Given the description of an element on the screen output the (x, y) to click on. 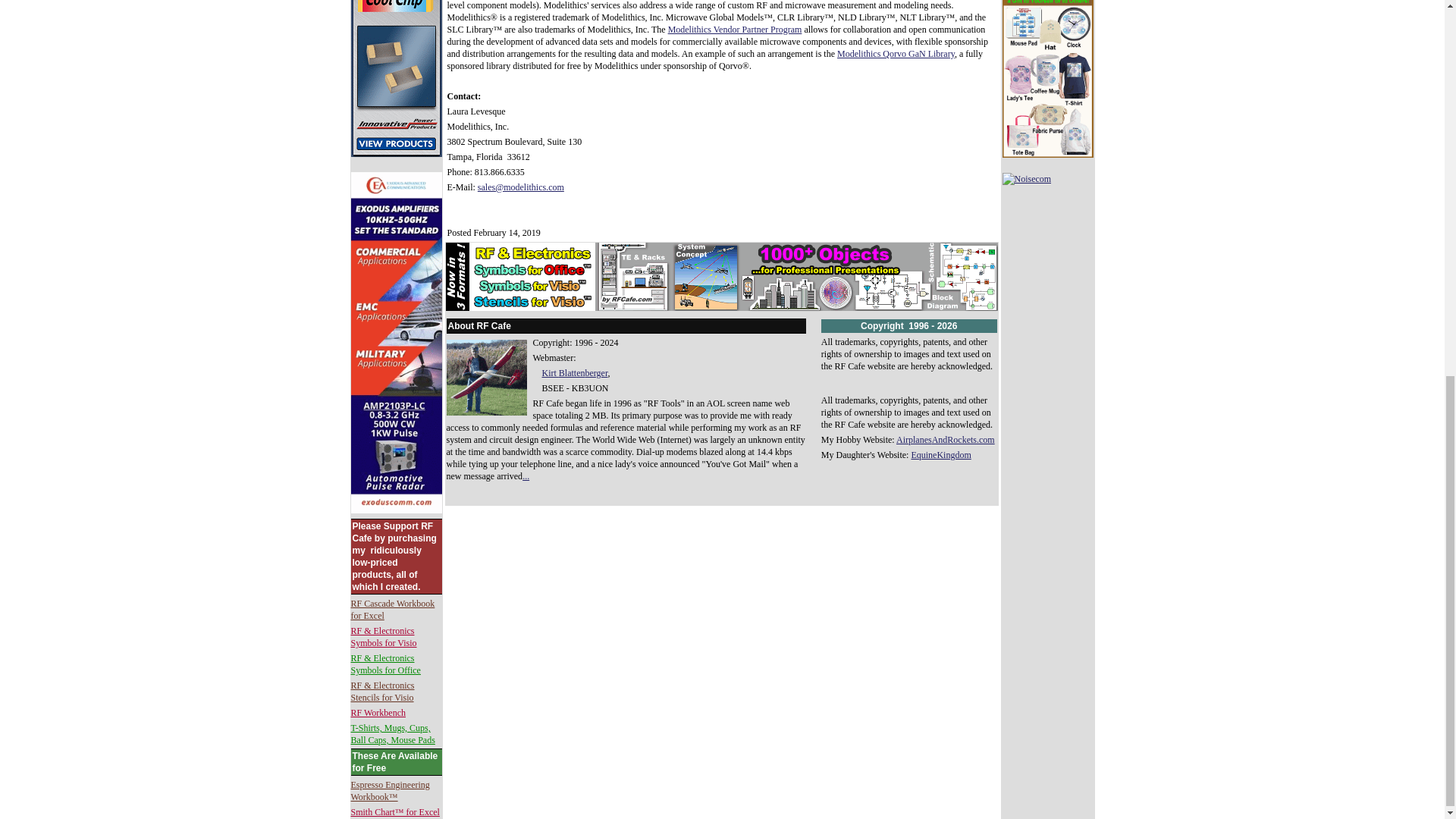
Modelithics Vendor Partner Program (735, 29)
T-Shirts, Mugs, Cups, Ball Caps, Mouse Pads (391, 733)
RF Cascade Workbook for Excel (391, 609)
RF Workbench (377, 712)
Modelithics Qorvo GaN Library (896, 53)
